Given the description of an element on the screen output the (x, y) to click on. 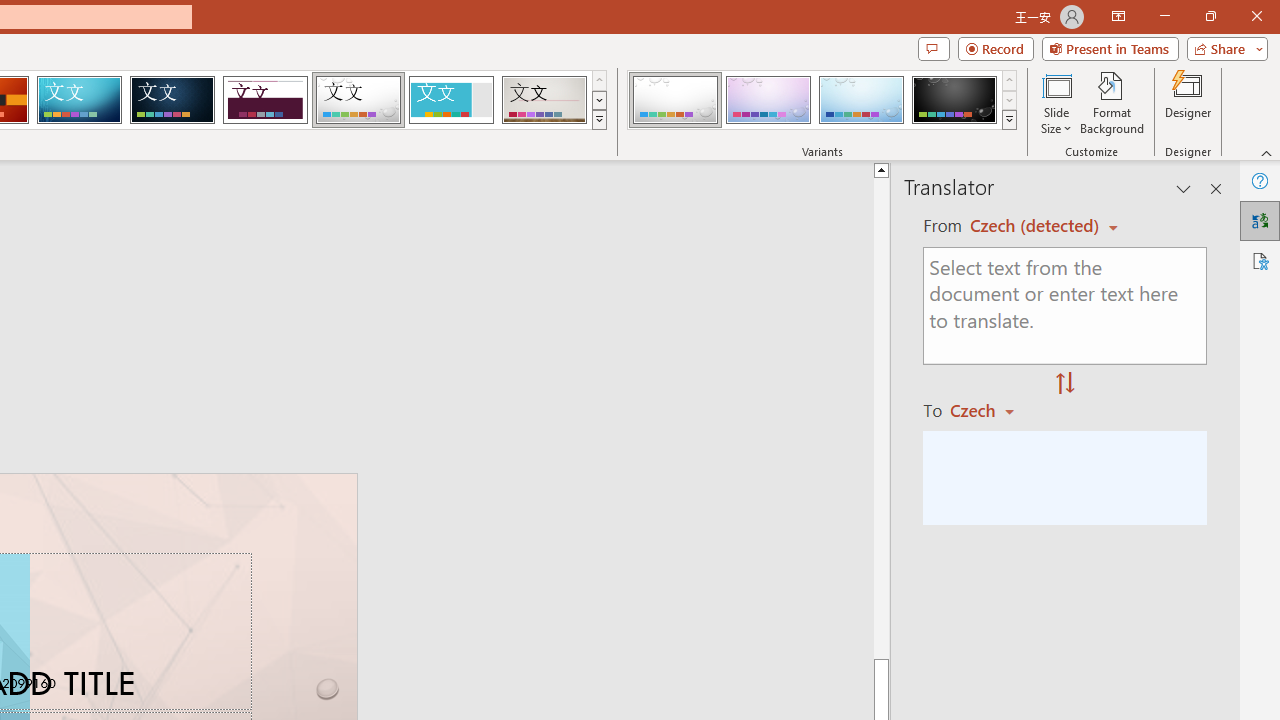
Slide Size (1056, 102)
